Given the description of an element on the screen output the (x, y) to click on. 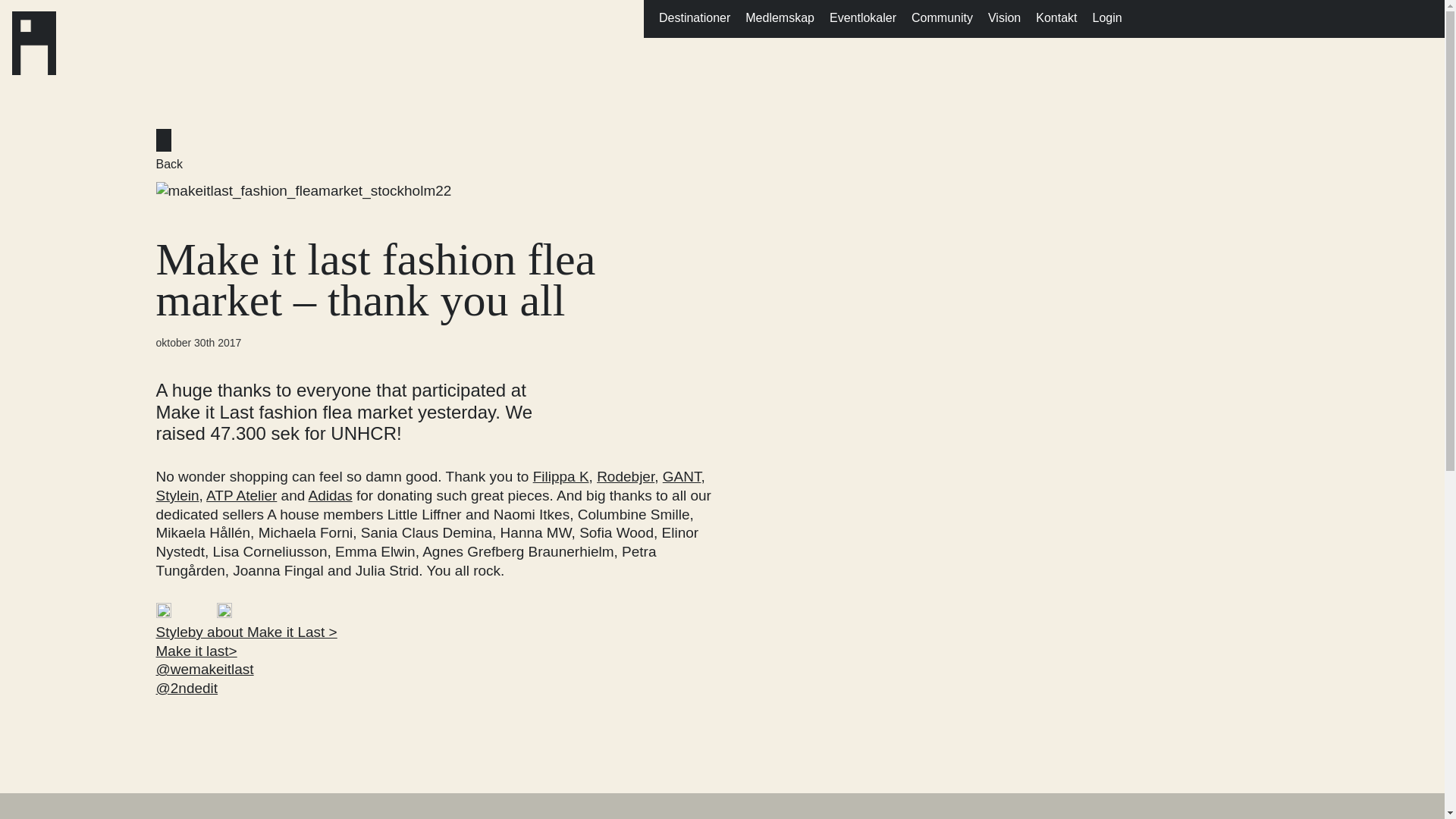
Eventlokaler (862, 17)
Community (941, 17)
Adidas (330, 495)
Filippa K (560, 476)
Kontakt (1056, 17)
Rodebjer (624, 476)
Login (1106, 17)
Medlemskap (779, 17)
Stylein (429, 504)
GANT (681, 476)
